Given the description of an element on the screen output the (x, y) to click on. 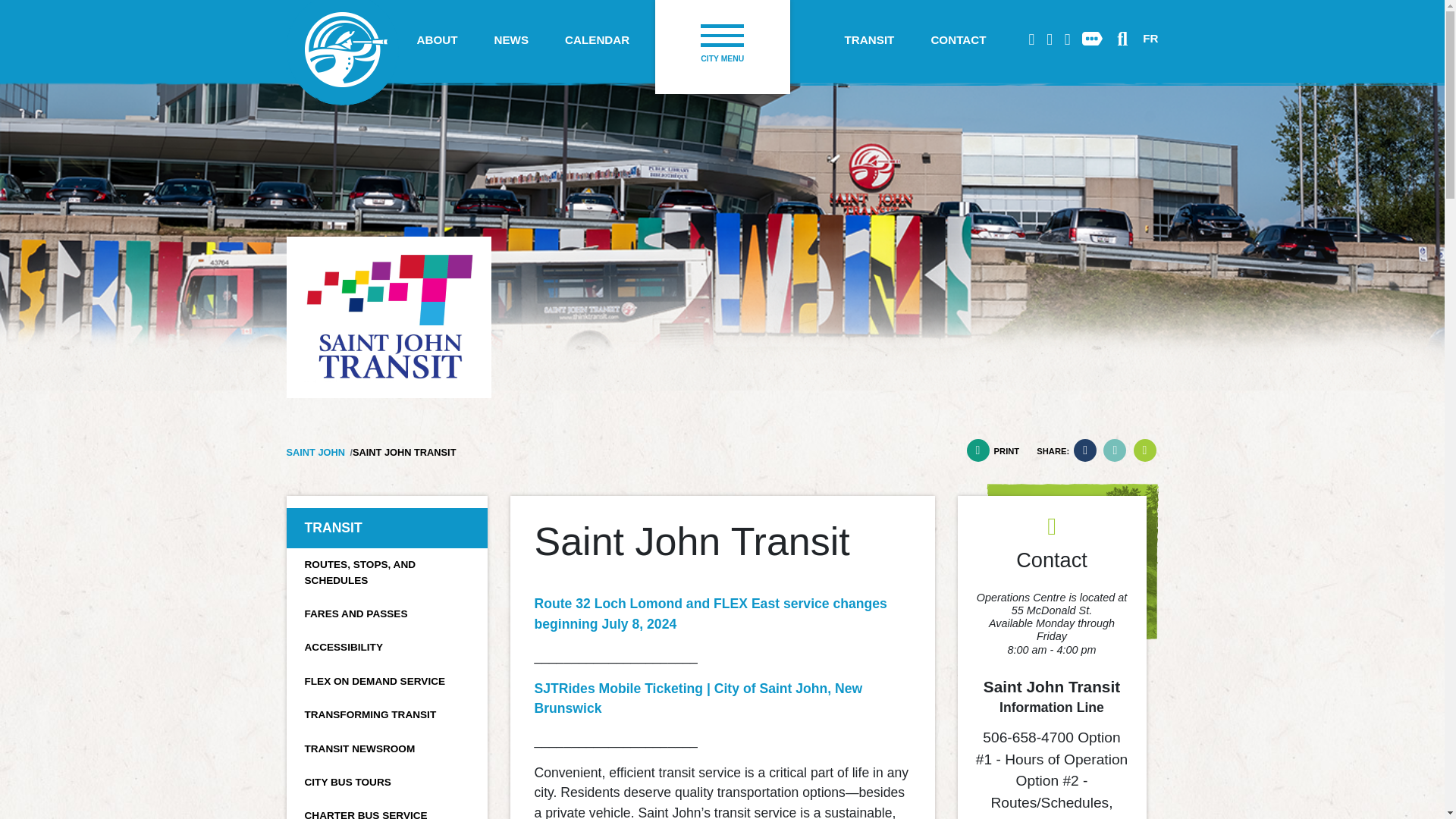
TRANSIT (869, 40)
CONTACT (958, 40)
CALENDAR (597, 40)
ABOUT (437, 40)
NEWS (511, 40)
Share by Email (1144, 449)
